Given the description of an element on the screen output the (x, y) to click on. 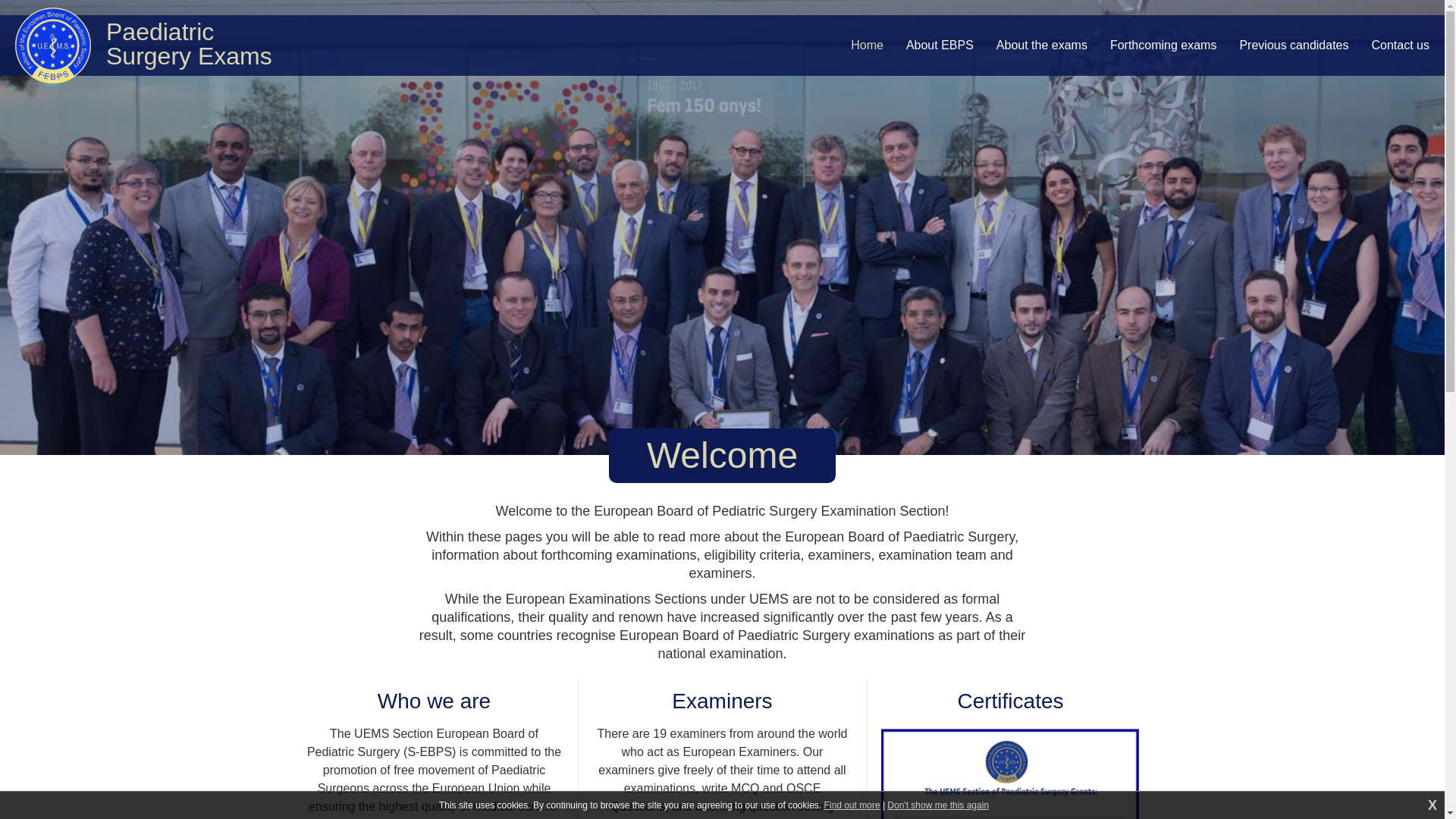
Find out more (852, 805)
Don't show me this again (937, 805)
Forthcoming exams (1163, 45)
Previous candidates (1293, 45)
About EBPS (939, 45)
Paediatric Surgery Exams (52, 45)
Contact us (1400, 45)
About the exams (1041, 45)
